Given the description of an element on the screen output the (x, y) to click on. 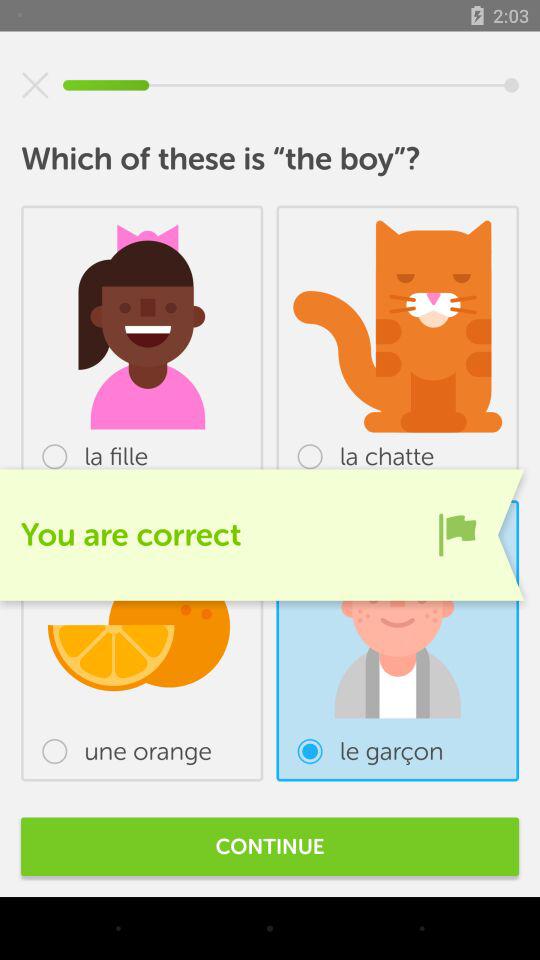
flip to the continue item (270, 846)
